Given the description of an element on the screen output the (x, y) to click on. 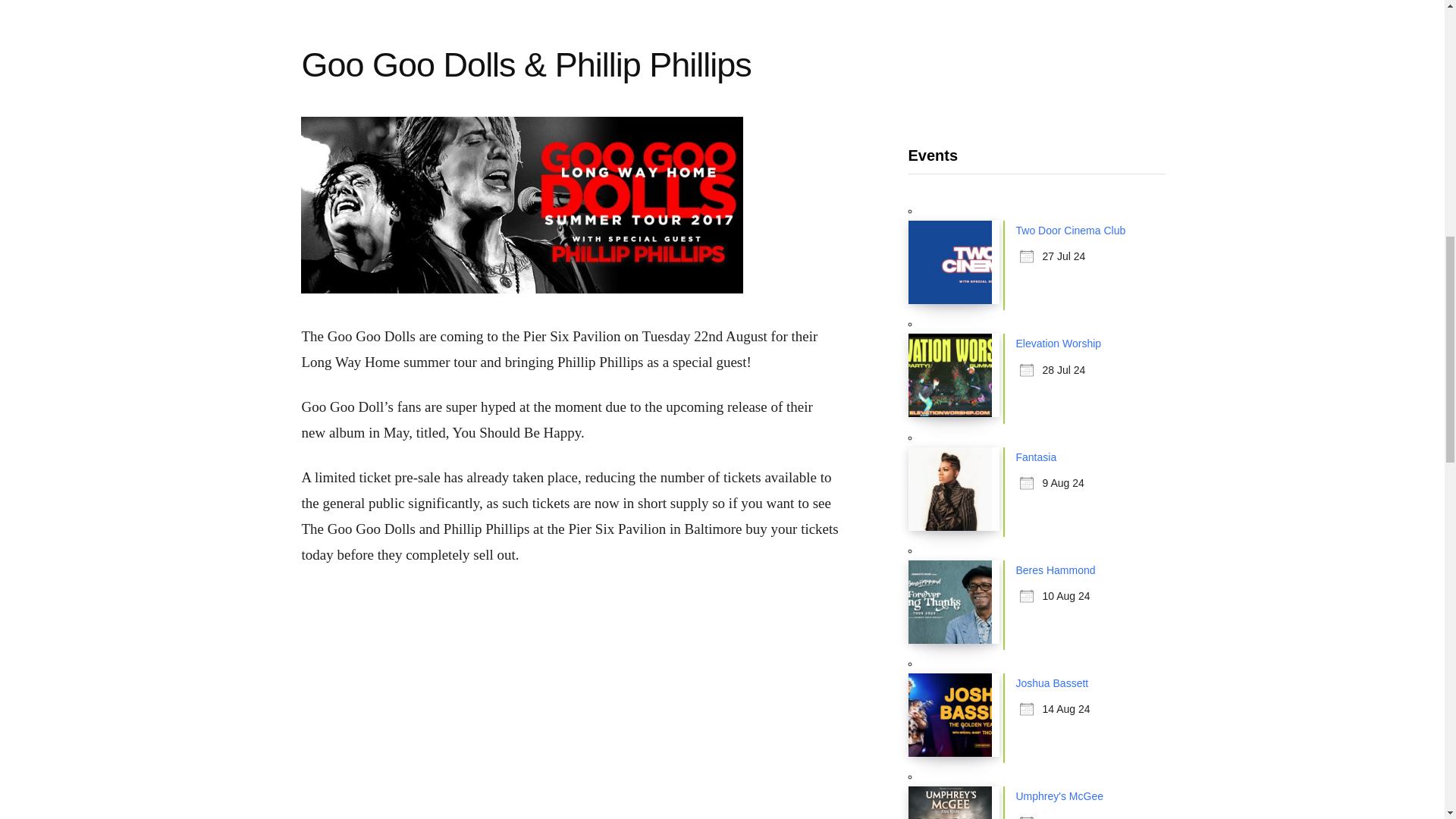
Umphrey's McGee (1059, 796)
Advertisement (1037, 53)
Fantasia (1036, 457)
Joshua Bassett (1052, 683)
Elevation Worship (1059, 343)
Two Door Cinema Club (1070, 230)
Beres Hammond (1056, 570)
